Given the description of an element on the screen output the (x, y) to click on. 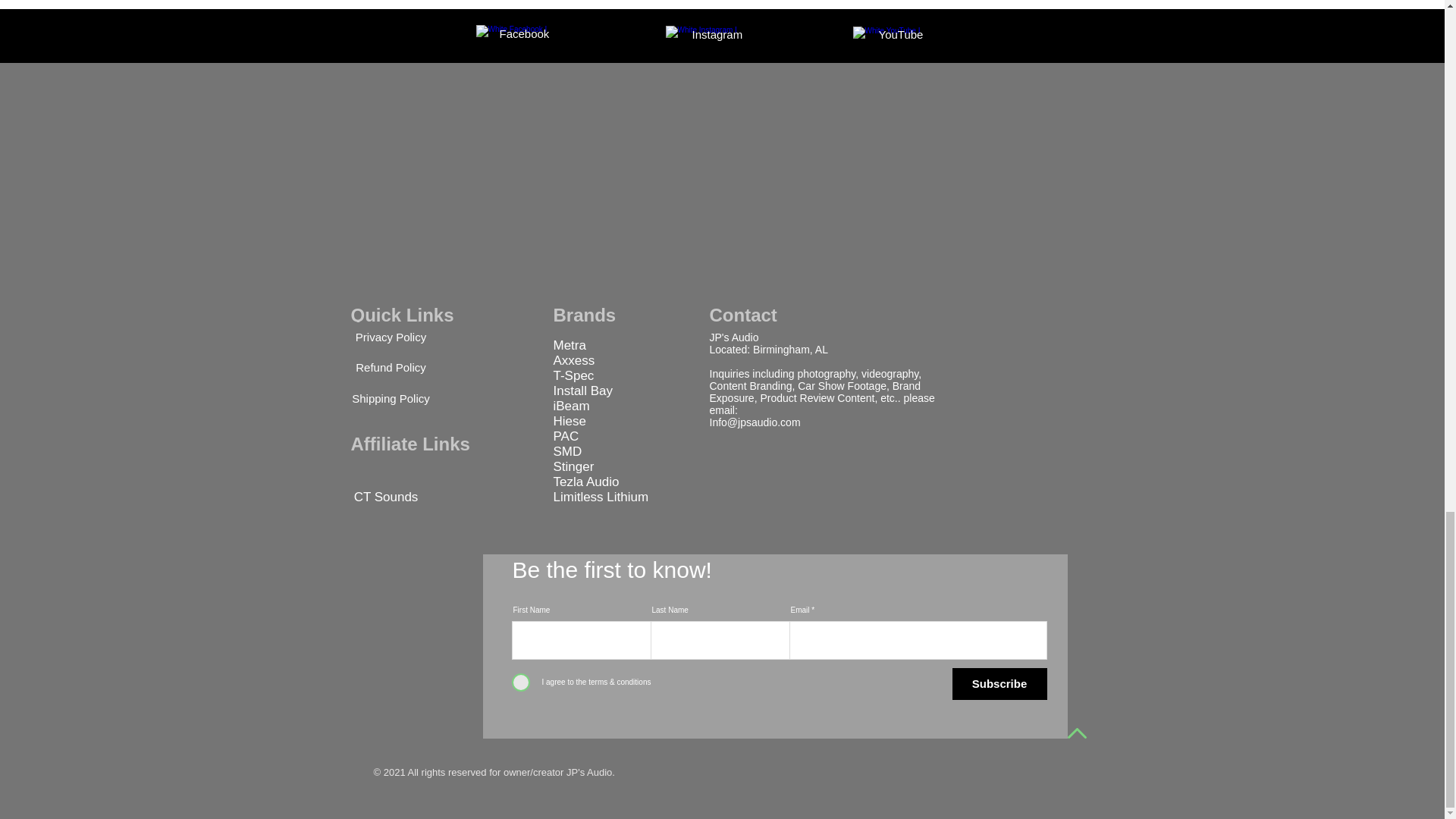
Subscribe (999, 683)
CT Sounds (385, 496)
Shipping Policy (390, 399)
Privacy Policy (390, 336)
Refund Policy (390, 367)
